Given the description of an element on the screen output the (x, y) to click on. 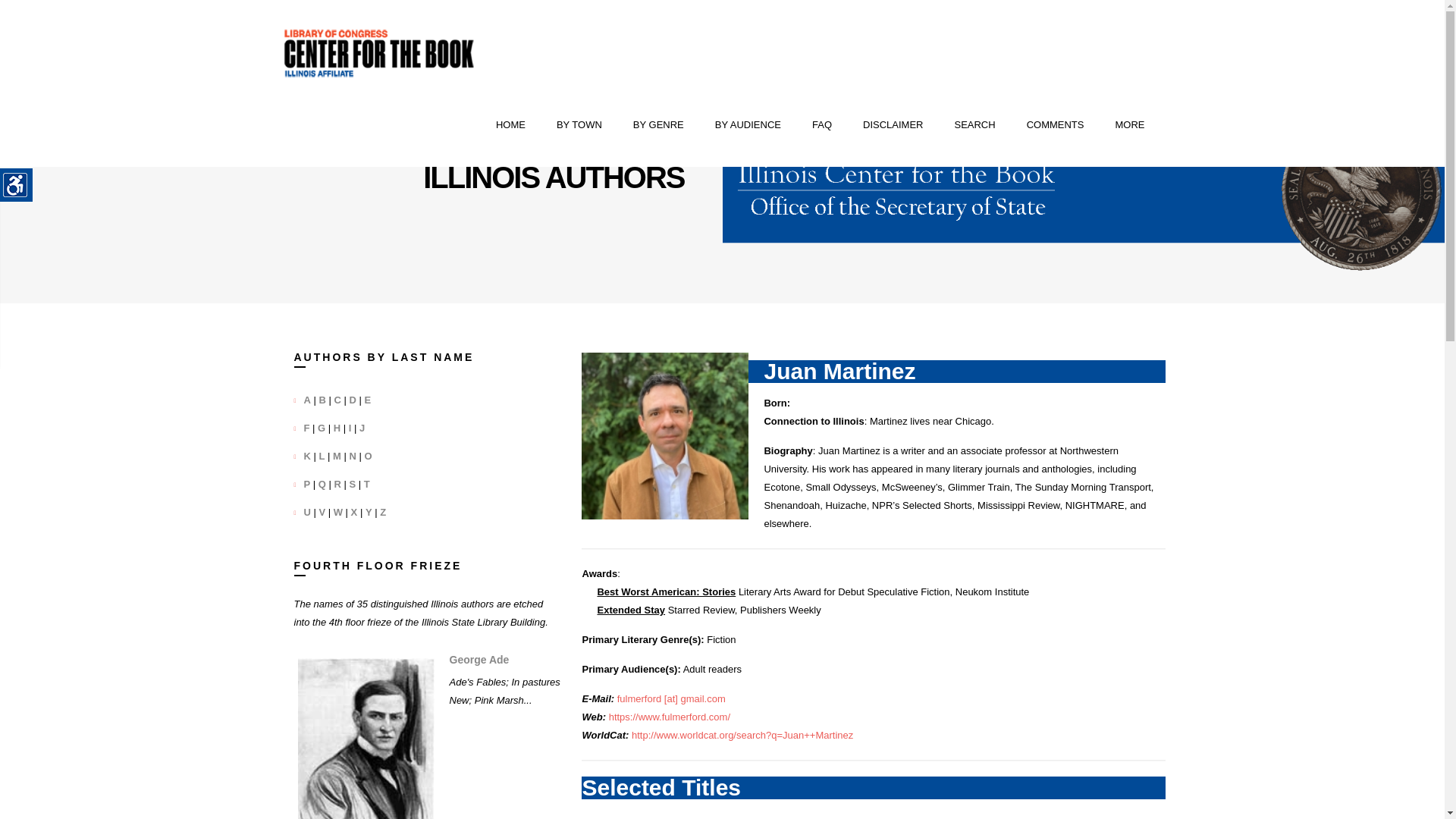
Illinois authors, arranged by audience (747, 125)
A disclaimer from the Illinois Secretary of State (893, 125)
COMMENTS (1055, 125)
Link to the Library of Congress's Center for the Book (379, 52)
DISCLAIMER (893, 125)
BY AUDIENCE (747, 125)
